Given the description of an element on the screen output the (x, y) to click on. 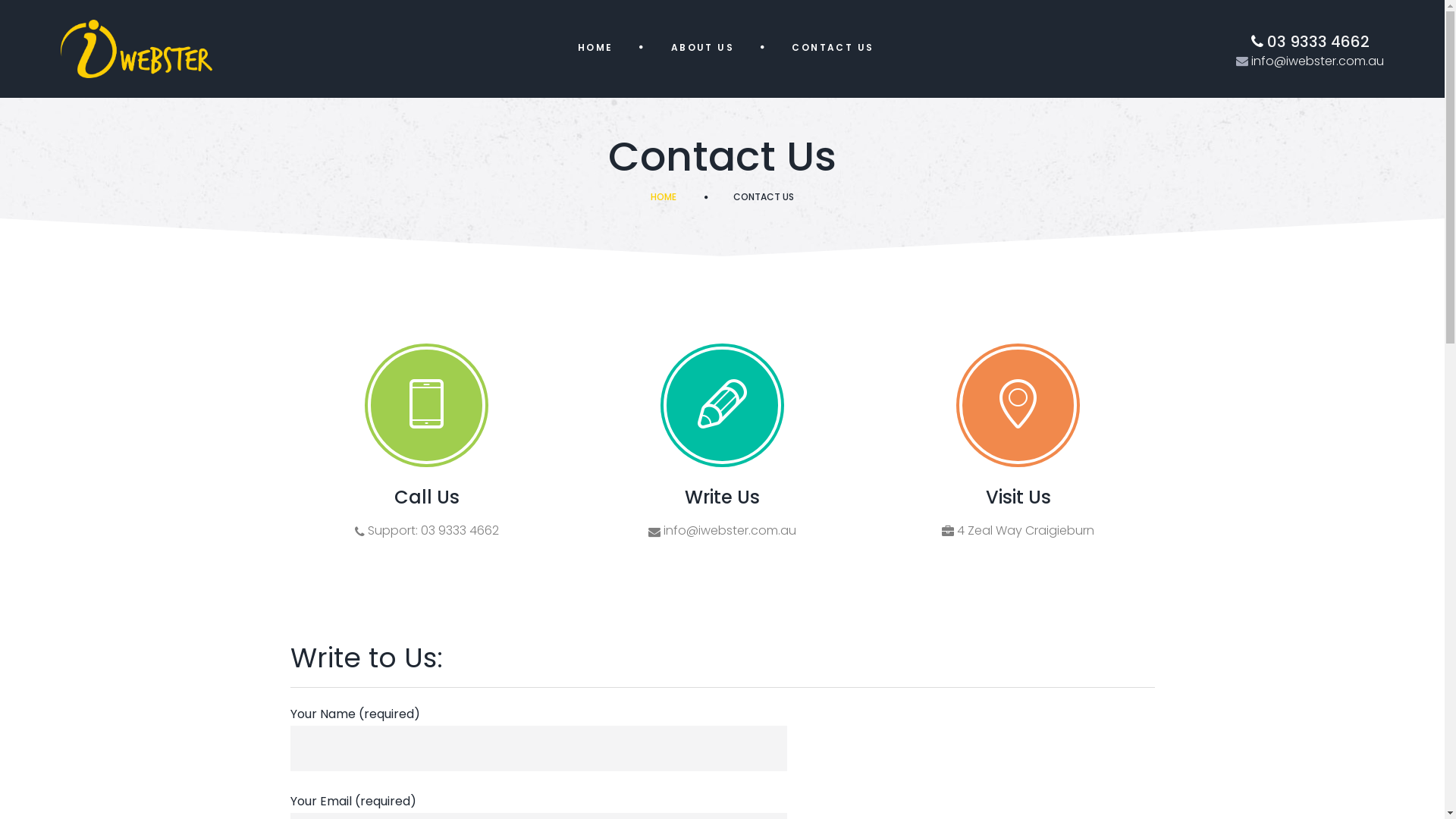
ABOUT US Element type: text (705, 48)
info@iwebster.com.au Element type: text (1315, 60)
HOME Element type: text (597, 48)
info@iwebster.com.au Element type: text (728, 530)
Support: 03 9333 4662 Element type: text (431, 530)
CONTACT US Element type: text (832, 47)
HOME Element type: text (663, 196)
4 Zeal Way Craigieburn Element type: text (1023, 530)
03 9333 4662 Element type: text (1316, 41)
